Given the description of an element on the screen output the (x, y) to click on. 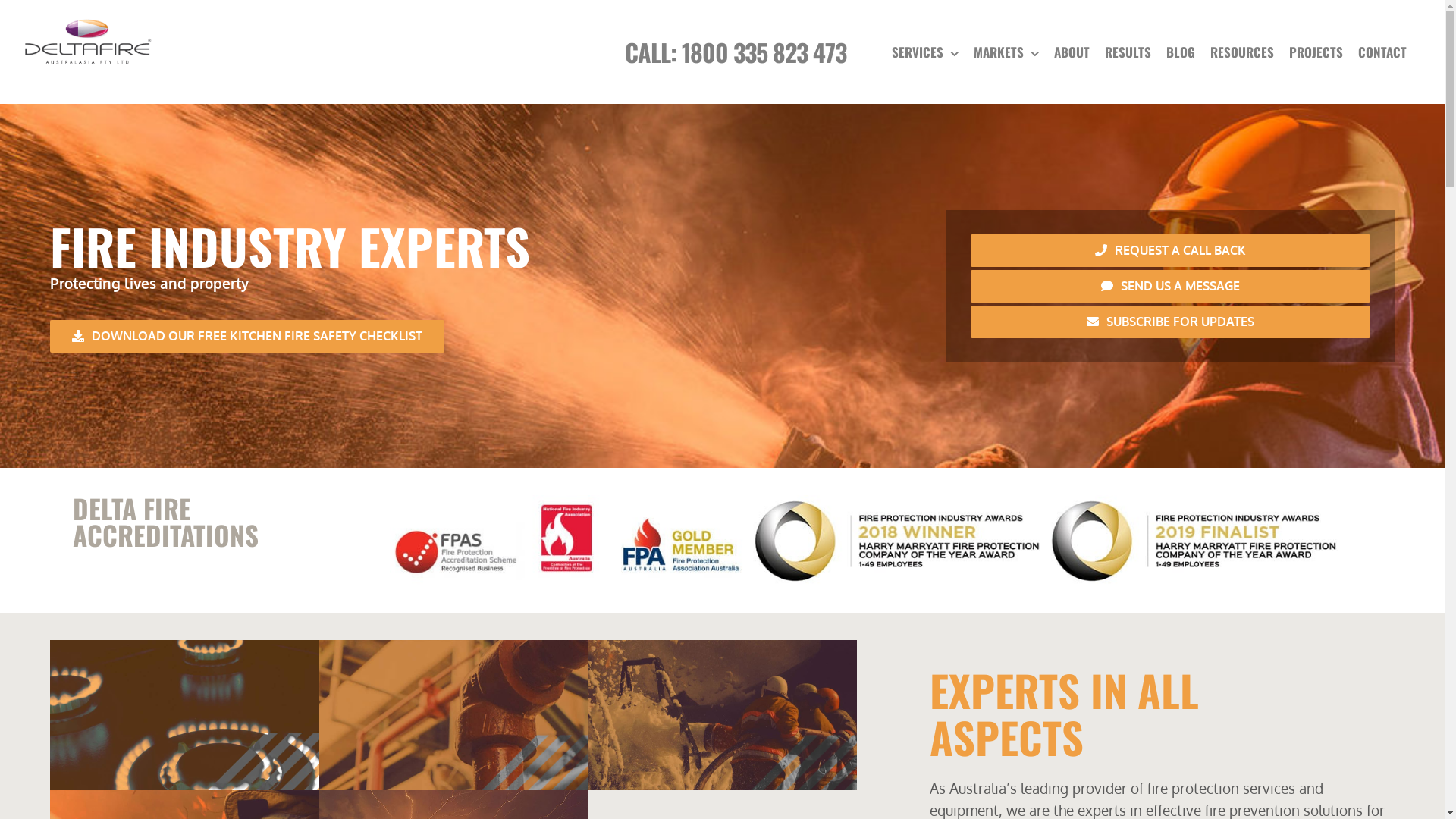
ABOUT Element type: text (1071, 51)
SEND US A MESSAGE Element type: text (1170, 285)
RESULTS Element type: text (1127, 51)
accreditations-v2 Element type: hover (865, 540)
SUBSCRIBE FOR UPDATES Element type: text (1170, 320)
PROJECTS Element type: text (1316, 51)
DOWNLOAD OUR FREE KITCHEN FIRE SAFETY CHECKLIST Element type: text (247, 336)
RESOURCES Element type: text (1242, 51)
CALL: 1800 335 823 473 Element type: text (735, 51)
BLOG Element type: text (1180, 51)
SERVICES Element type: text (924, 51)
CONTACT Element type: text (1382, 51)
MARKETS Element type: text (1005, 51)
REQUEST A CALL BACK Element type: text (1170, 249)
